Given the description of an element on the screen output the (x, y) to click on. 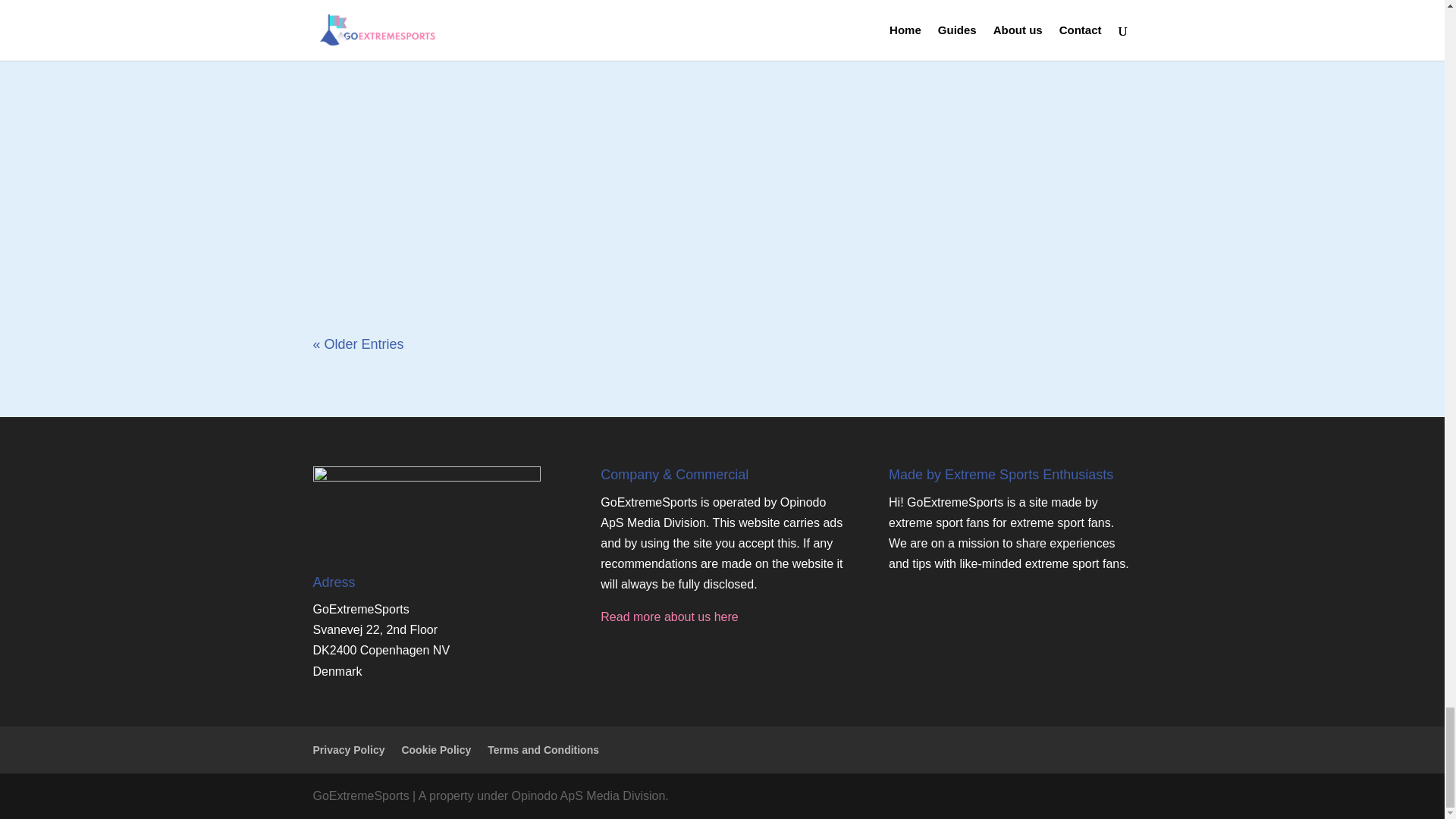
Cookie Policy (435, 749)
Terms and Conditions (542, 749)
Privacy Policy (348, 749)
Read more about us here (668, 616)
